Given the description of an element on the screen output the (x, y) to click on. 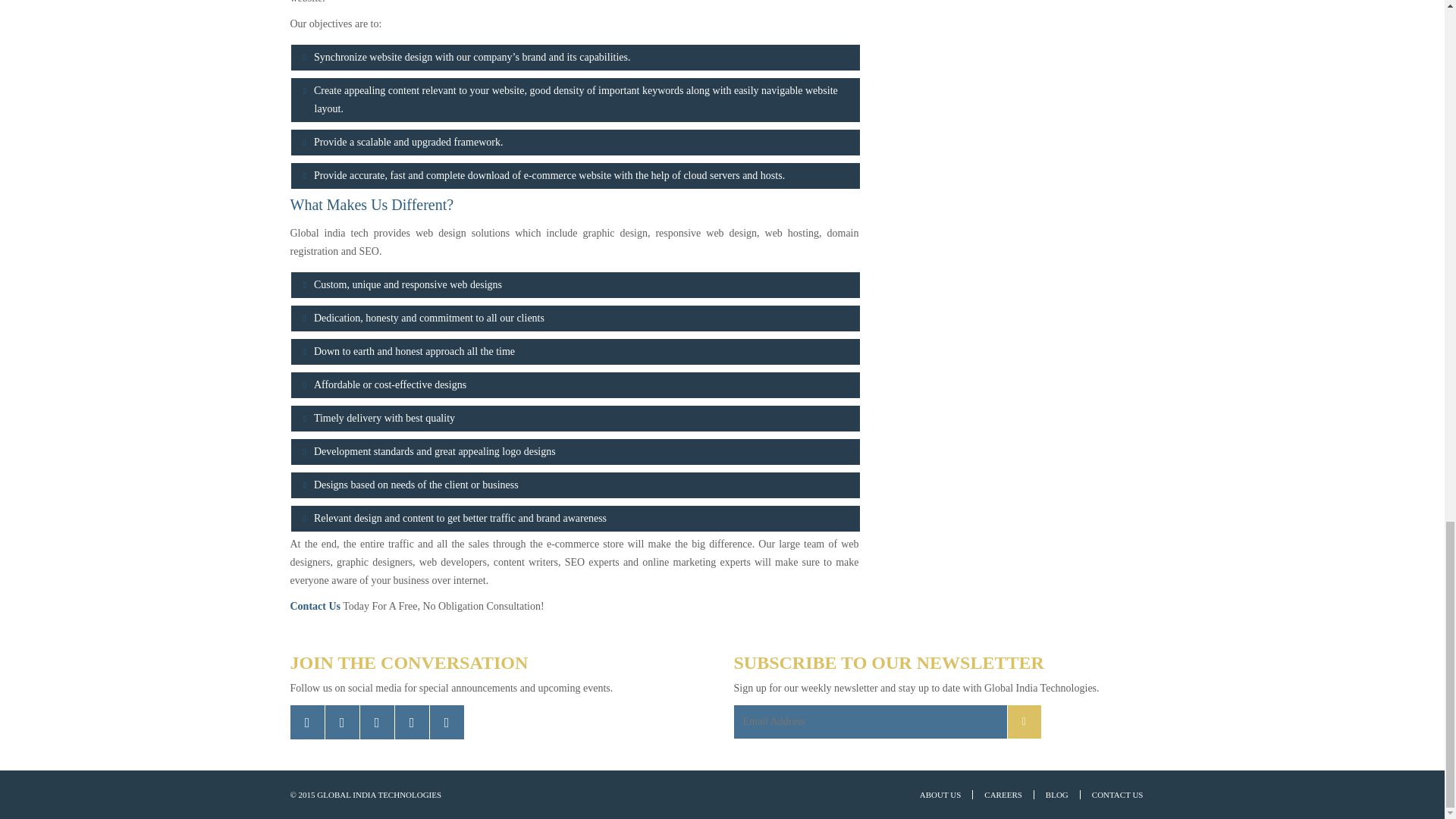
Twitter (306, 722)
Email us (411, 722)
RSS Feed (446, 722)
Google Plus (341, 722)
Linkedin (376, 722)
